Given the description of an element on the screen output the (x, y) to click on. 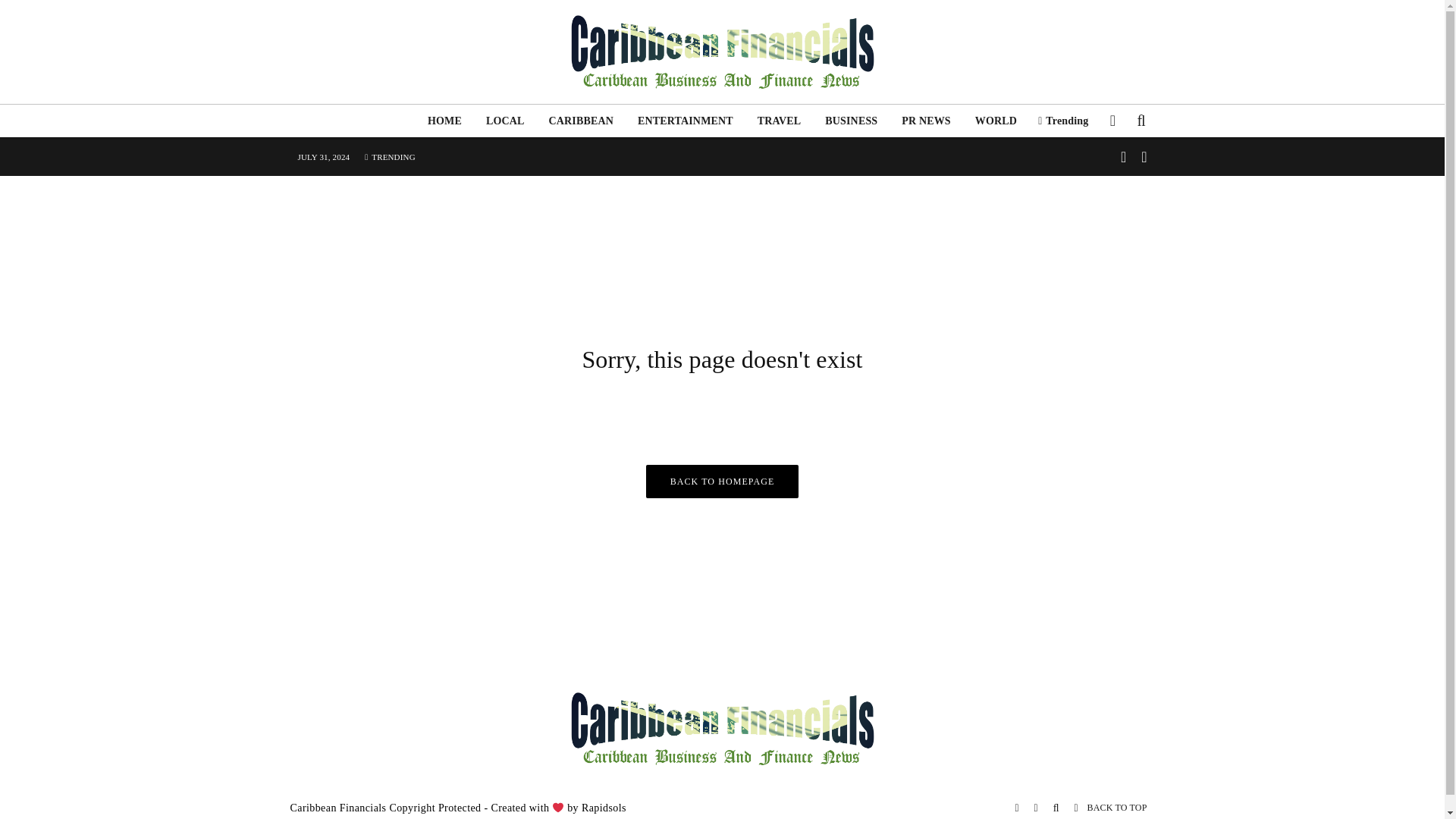
TRAVEL (779, 120)
HOME (444, 120)
CARIBBEAN (581, 120)
LOCAL (505, 120)
ENTERTAINMENT (685, 120)
